Given the description of an element on the screen output the (x, y) to click on. 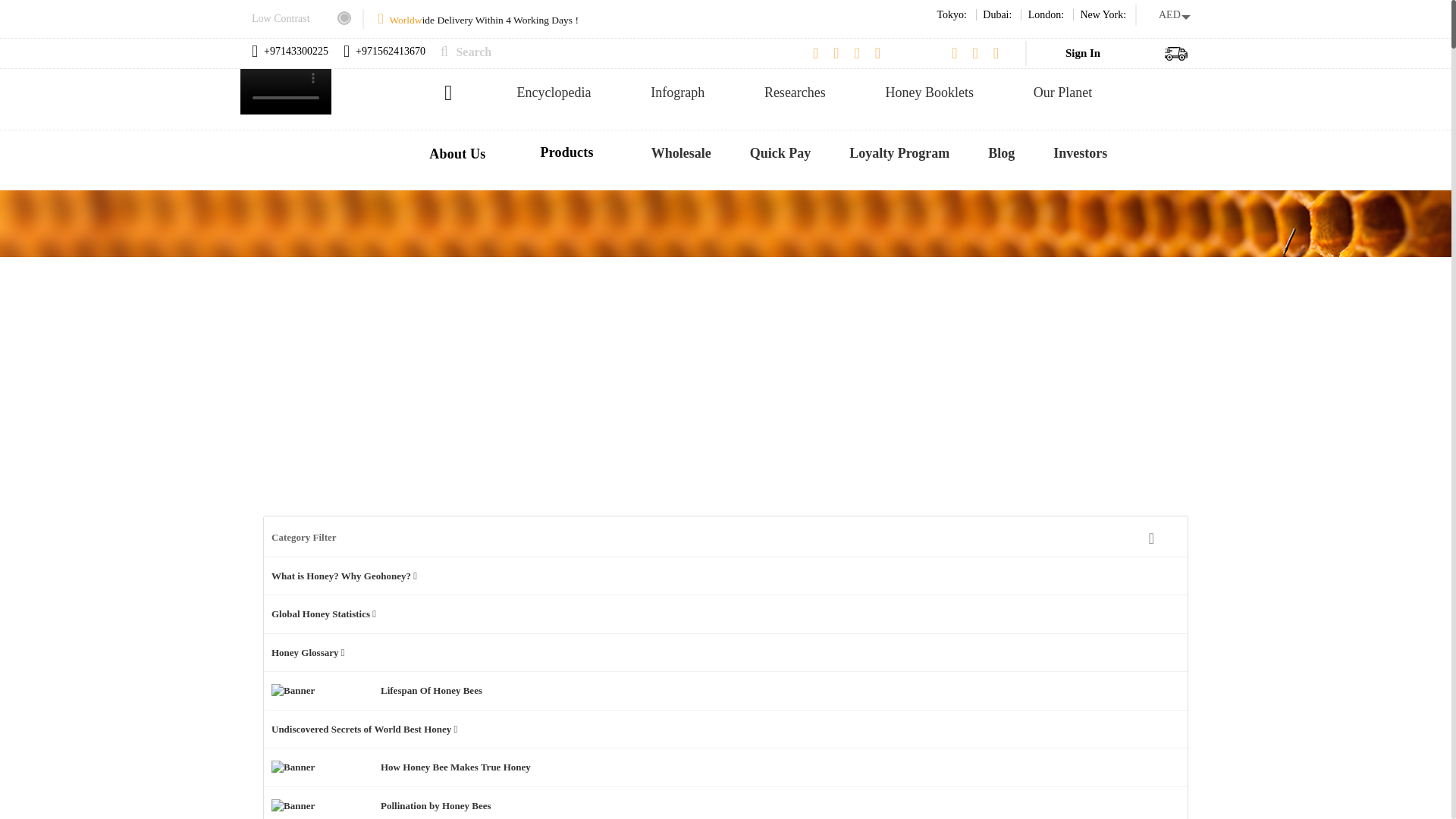
Infograph (677, 92)
Investors (1079, 152)
Generate payment link (779, 152)
Products (569, 152)
Honey Booklets (929, 92)
Researches (794, 92)
Wholesale (680, 152)
Loyalty Program (898, 152)
Quick Pay (779, 152)
Sign In (1082, 52)
